Given the description of an element on the screen output the (x, y) to click on. 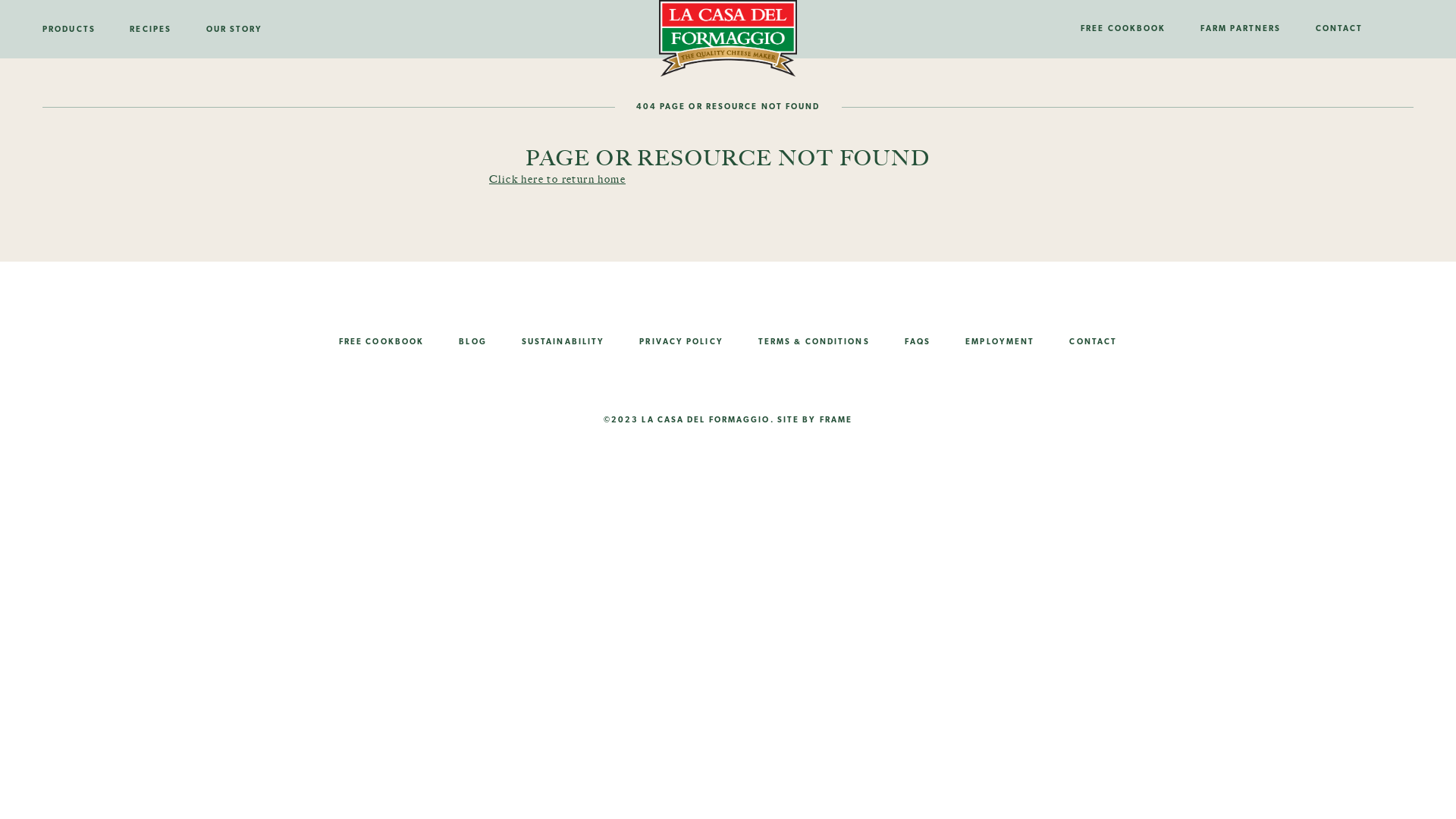
BLOG Element type: text (472, 341)
EMPLOYMENT Element type: text (999, 341)
PRODUCTS Element type: text (76, 29)
RECIPES Element type: text (150, 29)
CONTACT Element type: text (1092, 341)
SITE BY FRAME Element type: text (814, 418)
Click here to return home Element type: text (557, 178)
OUR STORY Element type: text (234, 29)
FREE COOKBOOK Element type: text (381, 341)
PRIVACY POLICY Element type: text (680, 341)
SUSTAINABILITY Element type: text (562, 341)
CONTACT Element type: text (1339, 28)
FAQS Element type: text (917, 341)
FREE COOKBOOK Element type: text (1122, 28)
TERMS & CONDITIONS Element type: text (813, 341)
FARM PARTNERS Element type: text (1240, 28)
